Given the description of an element on the screen output the (x, y) to click on. 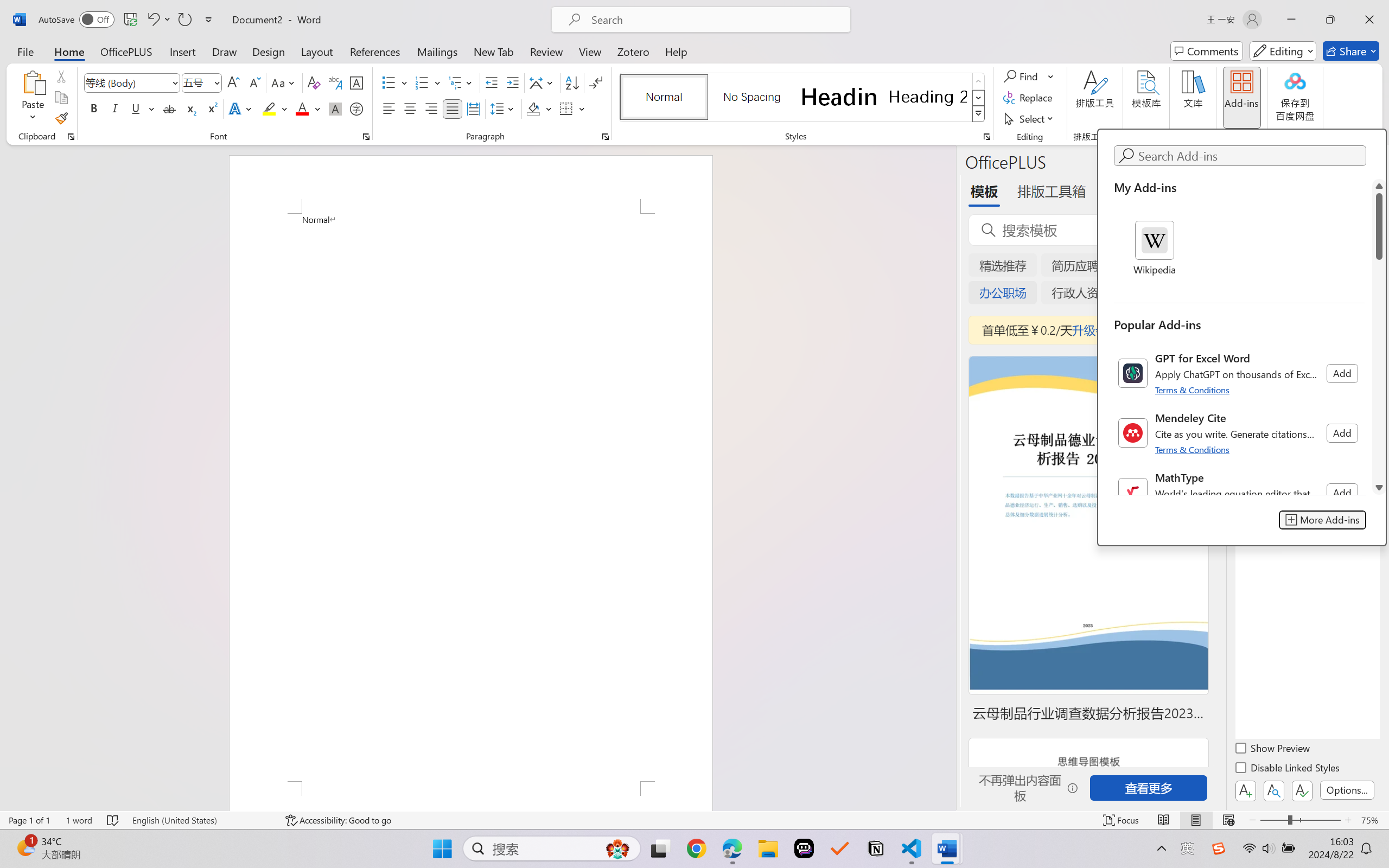
Text Highlight Color Yellow (269, 108)
Font Size (201, 82)
Paragraph... (605, 136)
Center (409, 108)
Character Shading (334, 108)
Clear Formatting (313, 82)
Design (268, 51)
Open (215, 82)
Spelling and Grammar Check No Errors (113, 819)
Web Layout (1228, 819)
Microsoft search (715, 19)
Customize Quick Access Toolbar (208, 19)
Paste (33, 97)
